Given the description of an element on the screen output the (x, y) to click on. 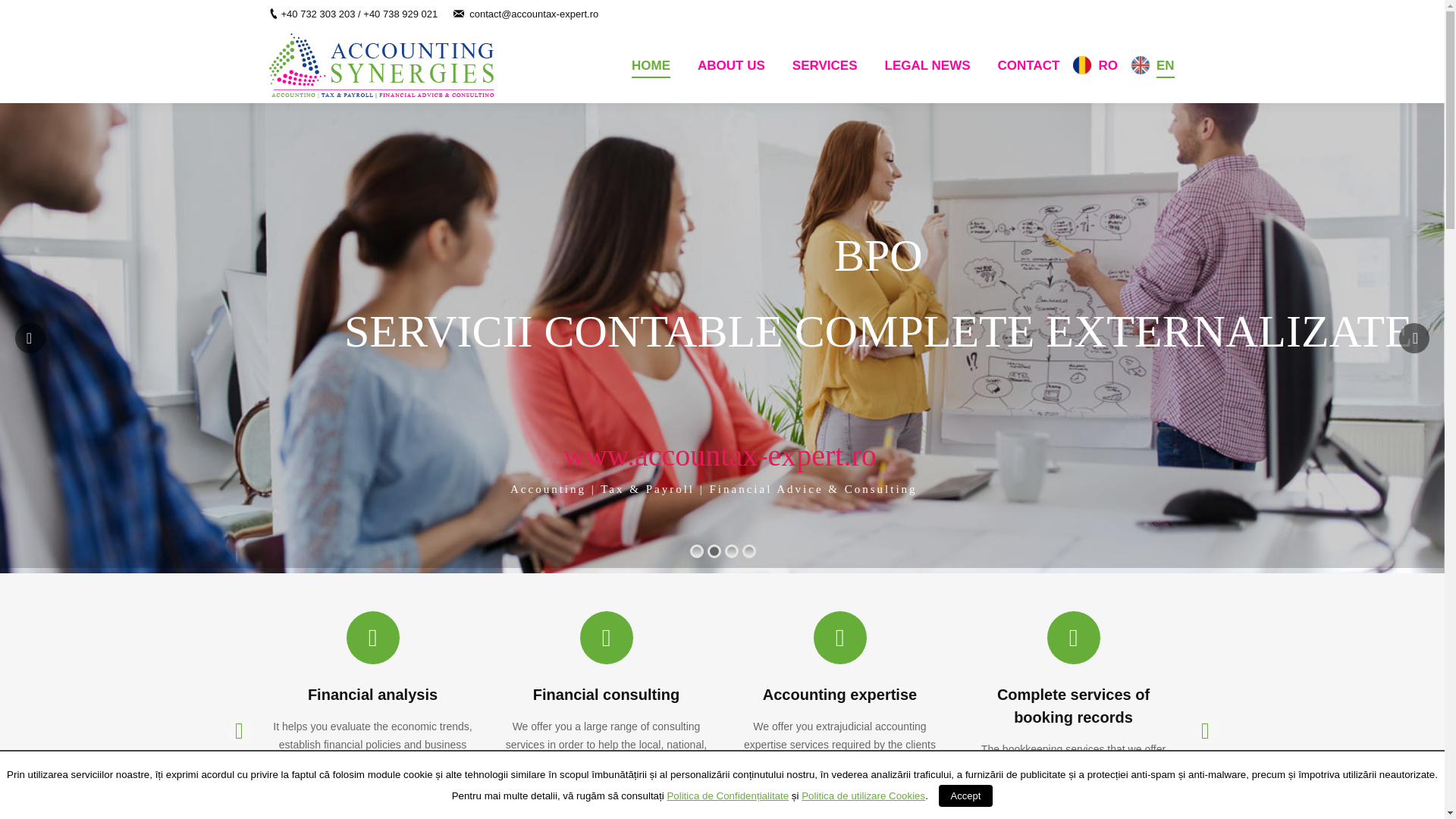
CONTACT (1028, 64)
LEGAL NEWS (926, 64)
EN (1165, 64)
HOME (650, 64)
ABOUT US (731, 64)
SERVICES (824, 64)
RO (1107, 64)
